Given the description of an element on the screen output the (x, y) to click on. 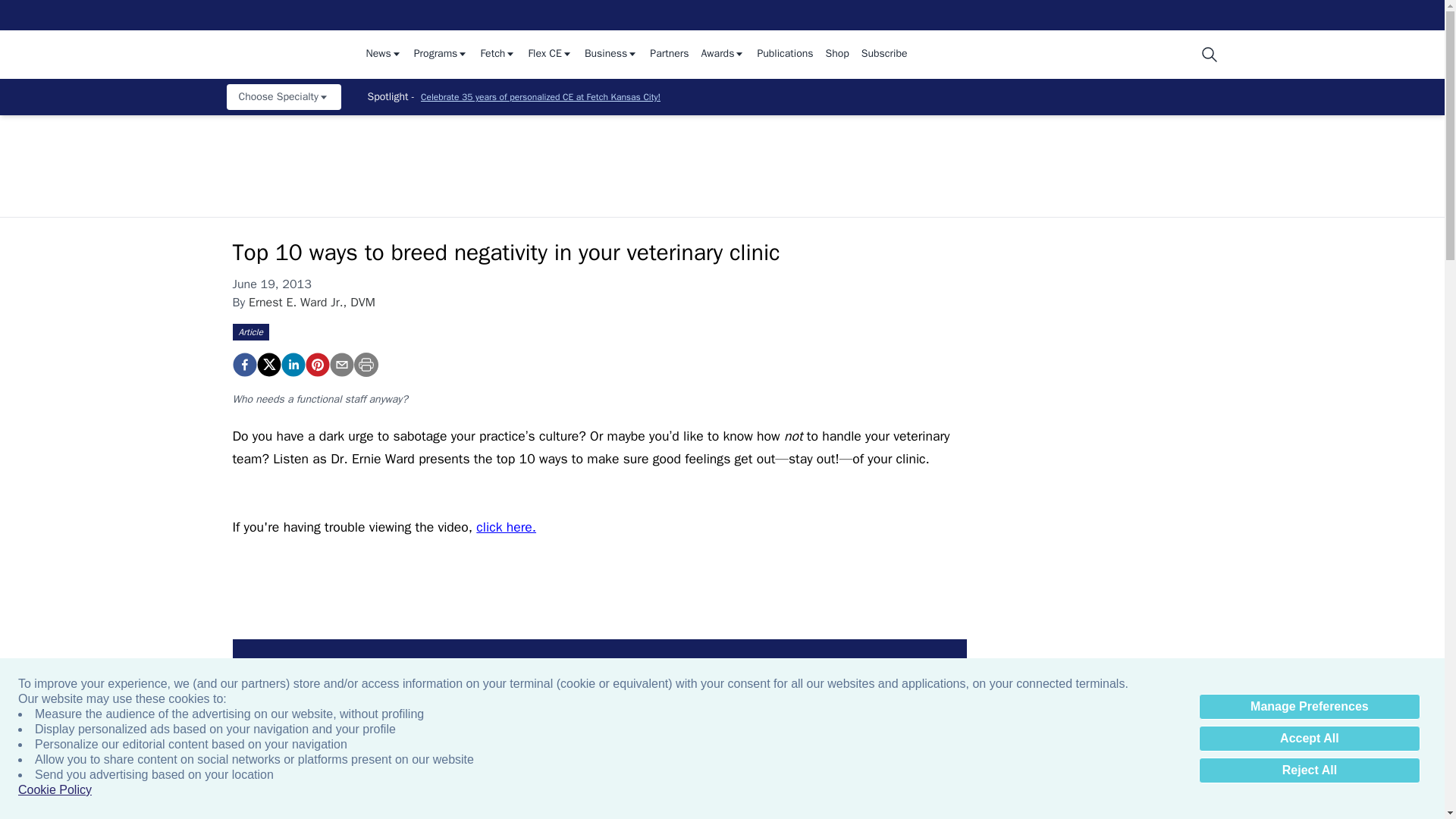
Honey bee (999, 739)
Fetch (497, 54)
Programs (440, 54)
Accept All (1309, 738)
Nontraditional jobs for veterinary technicians (671, 739)
Manage Preferences (1309, 706)
News (383, 54)
Managing practice caseloads (507, 739)
Business (611, 54)
Top 10 ways to breed negativity in your veterinary clinic (243, 364)
Top 10 ways to breed negativity in your veterinary clinic (316, 364)
Flex CE (549, 54)
Reject All (1309, 769)
Cookie Policy (54, 789)
